Given the description of an element on the screen output the (x, y) to click on. 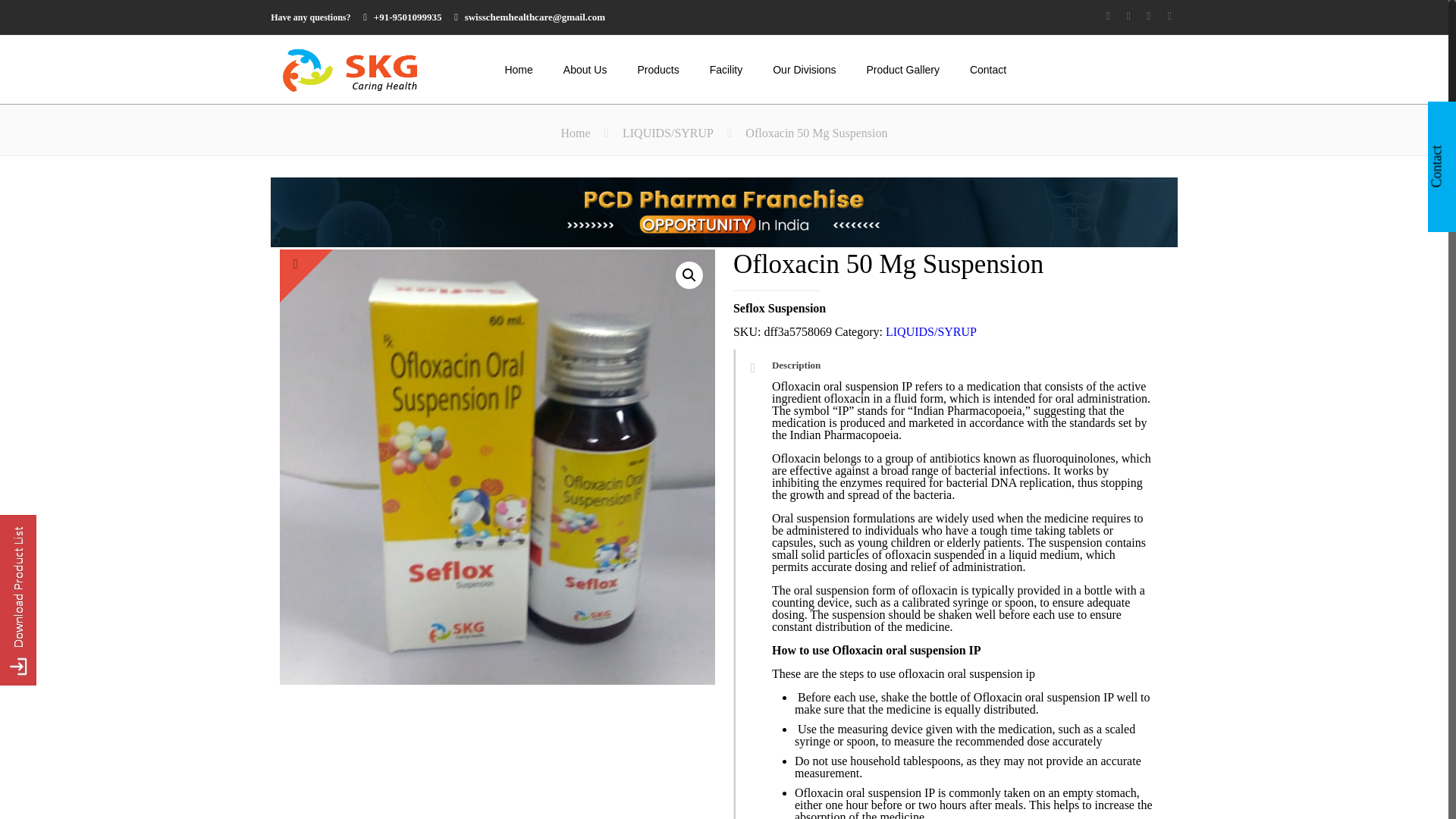
Facility (726, 70)
About Us (585, 70)
LinkedIn (1149, 15)
Contact (988, 70)
Products (657, 70)
Pinterest (1169, 15)
Product Gallery (901, 70)
Our Divisions (803, 70)
Home (574, 132)
Twitter (1129, 15)
Facebook (1108, 15)
Home (518, 70)
